Given the description of an element on the screen output the (x, y) to click on. 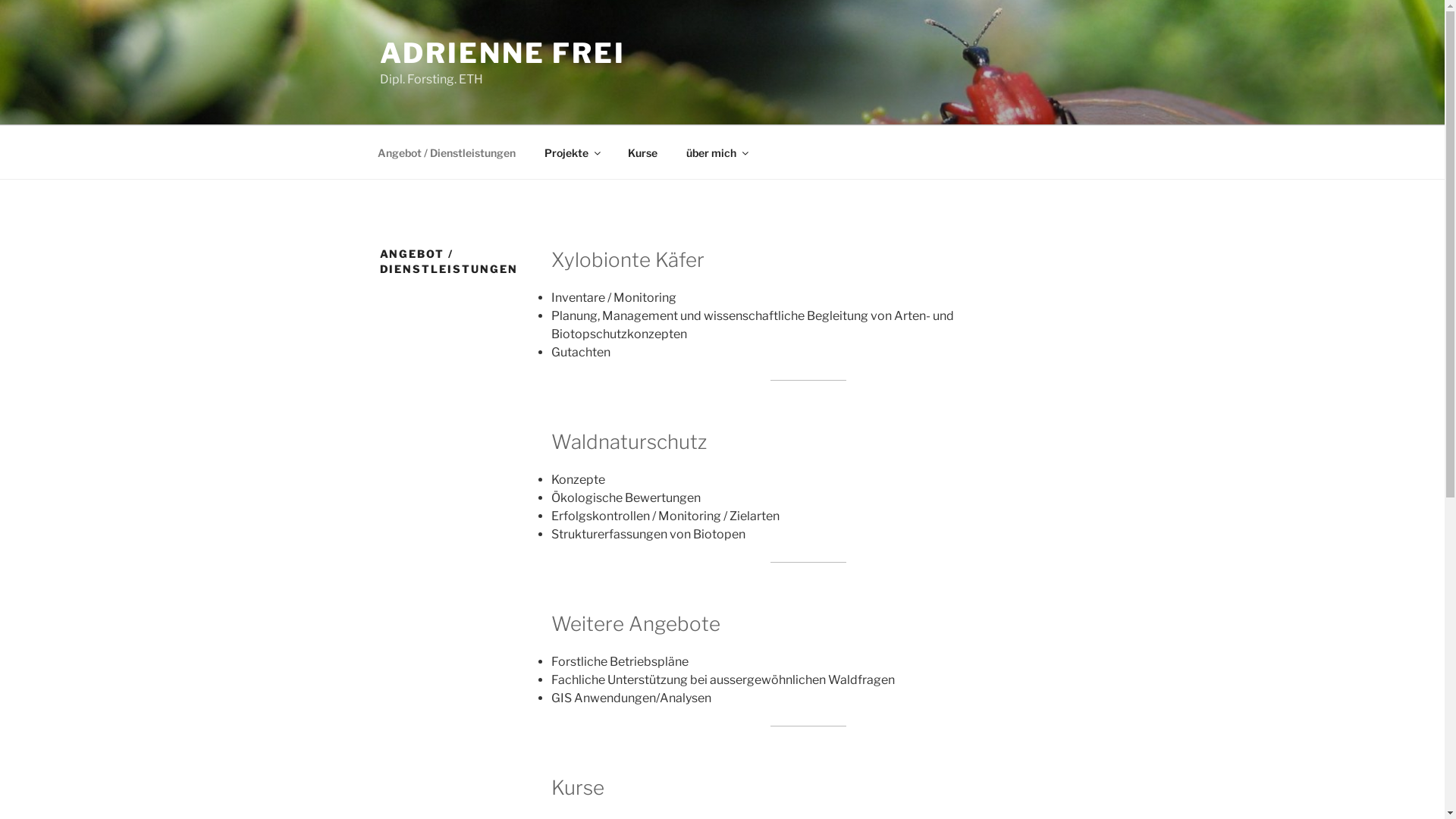
Kurse Element type: text (642, 151)
Projekte Element type: text (570, 151)
ADRIENNE FREI Element type: text (501, 52)
Angebot / Dienstleistungen Element type: text (446, 151)
